Given the description of an element on the screen output the (x, y) to click on. 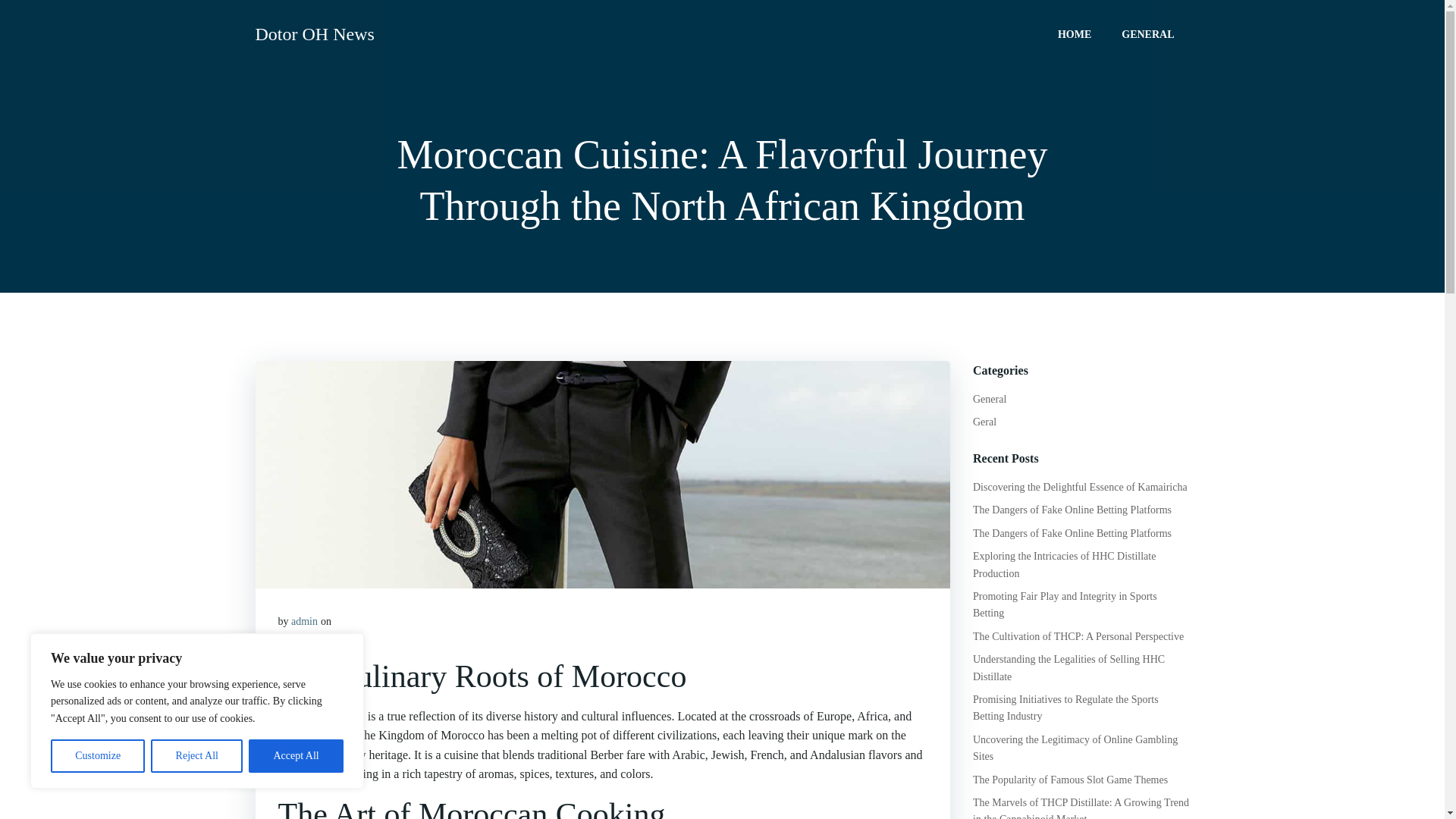
The Dangers of Fake Online Betting Platforms (1072, 532)
Reject All (197, 756)
Accept All (295, 756)
Understanding the Legalities of Selling HHC Distillate (1068, 667)
The Dangers of Fake Online Betting Platforms (1072, 509)
Dotor OH News (314, 33)
GENERAL (1147, 33)
Geral (983, 421)
Customize (97, 756)
Promoting Fair Play and Integrity in Sports Betting (1064, 604)
admin (304, 621)
Discovering the Delightful Essence of Kamairicha (1080, 487)
The Cultivation of THCP: A Personal Perspective (1077, 636)
Exploring the Intricacies of HHC Distillate Production (1064, 564)
